Given the description of an element on the screen output the (x, y) to click on. 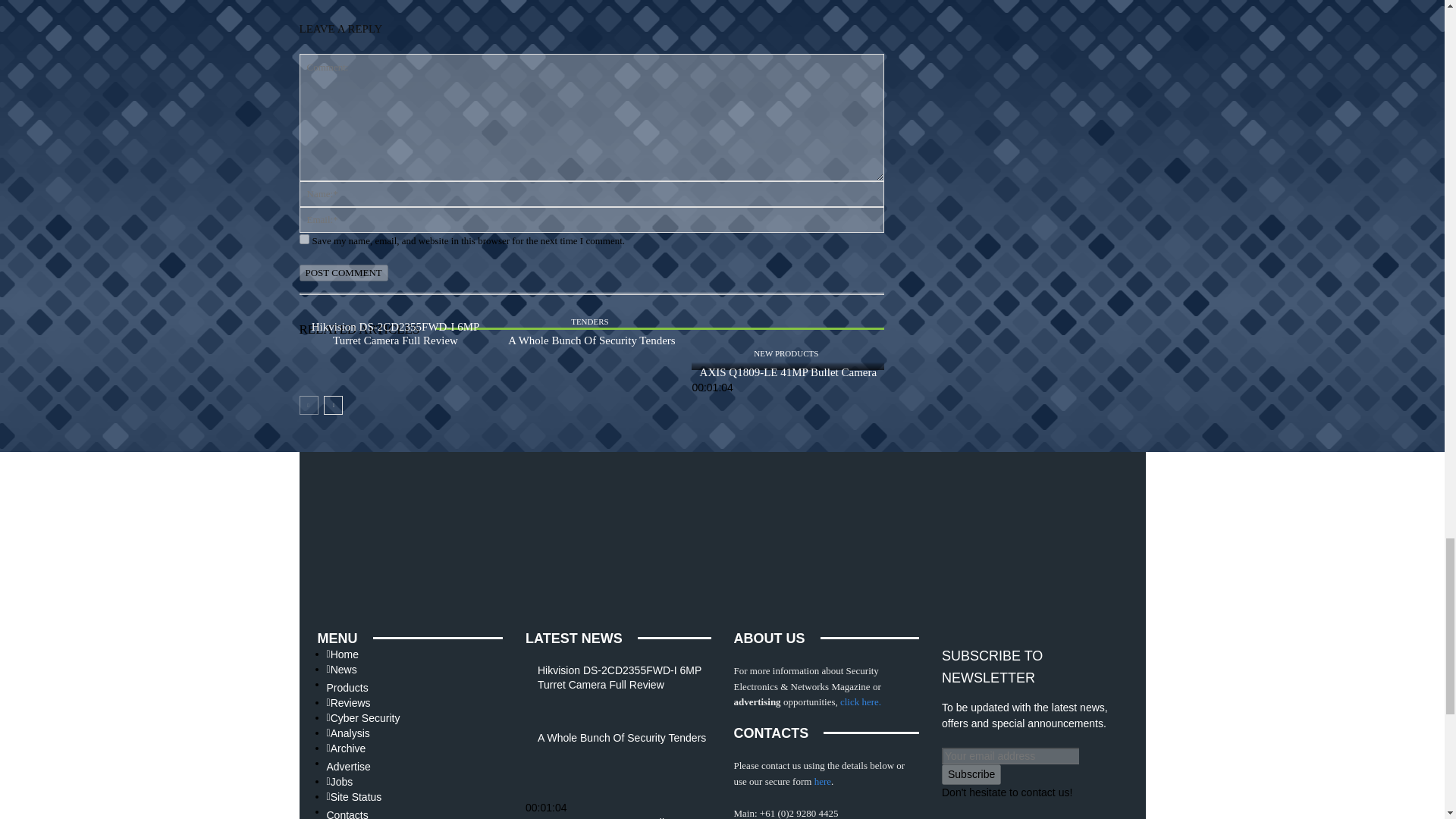
yes (303, 239)
Post Comment (342, 272)
